Given the description of an element on the screen output the (x, y) to click on. 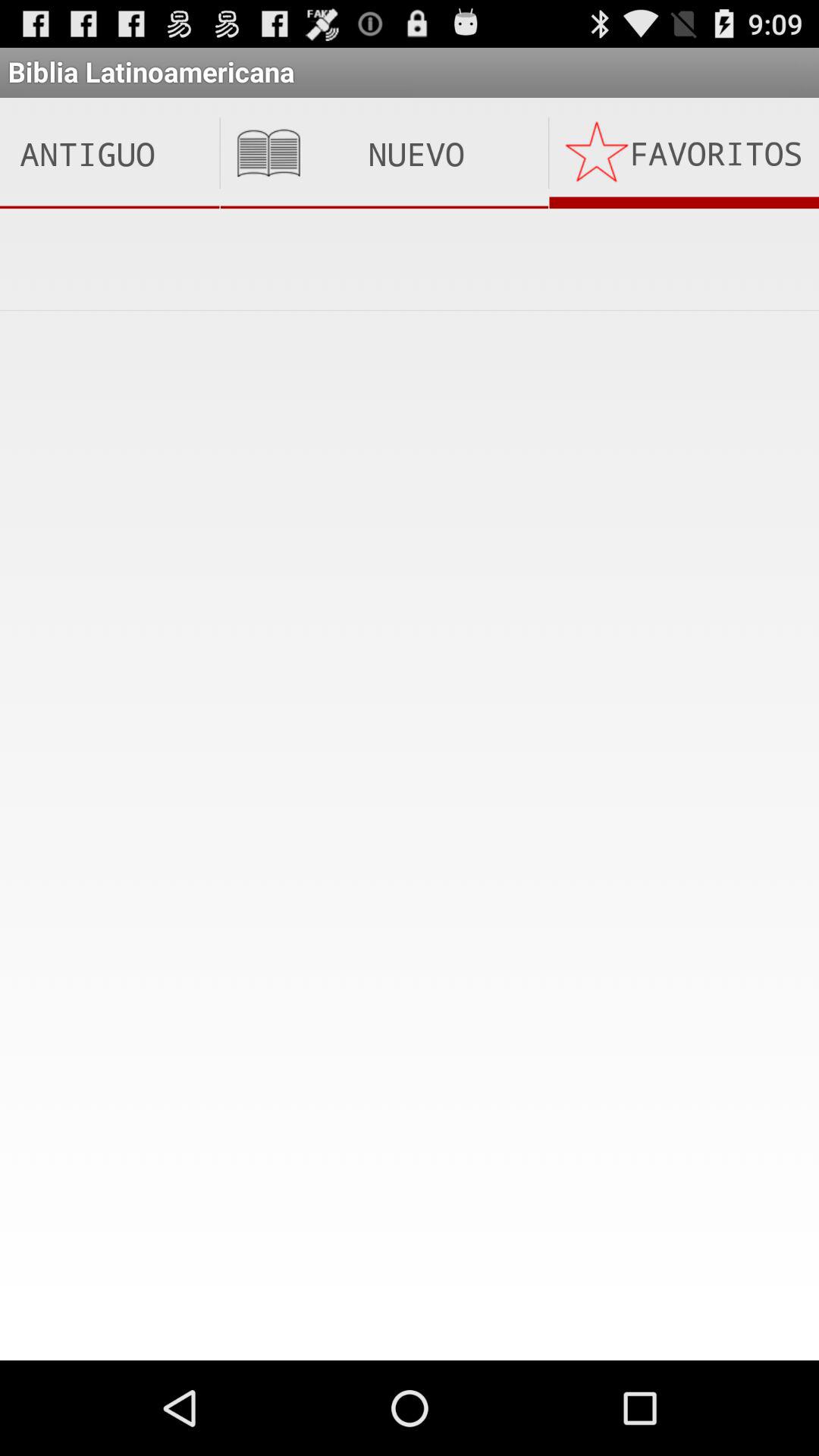
launch the item to the left of the favoritos (384, 152)
